Given the description of an element on the screen output the (x, y) to click on. 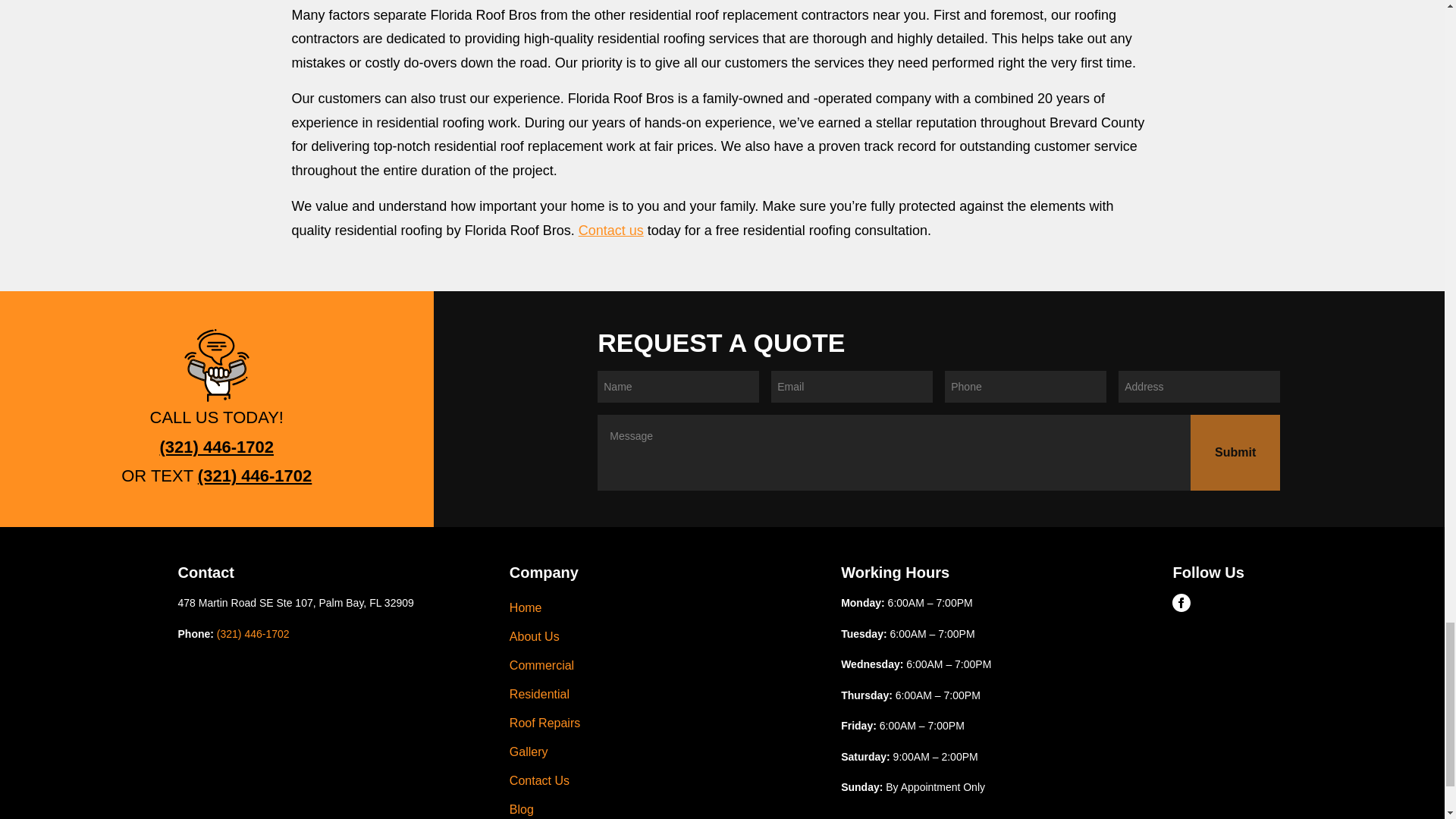
Residential (662, 694)
Contact us (610, 230)
Home (662, 607)
About Us (662, 636)
Submit (1235, 452)
Submit (1235, 452)
Commercial (662, 665)
